Given the description of an element on the screen output the (x, y) to click on. 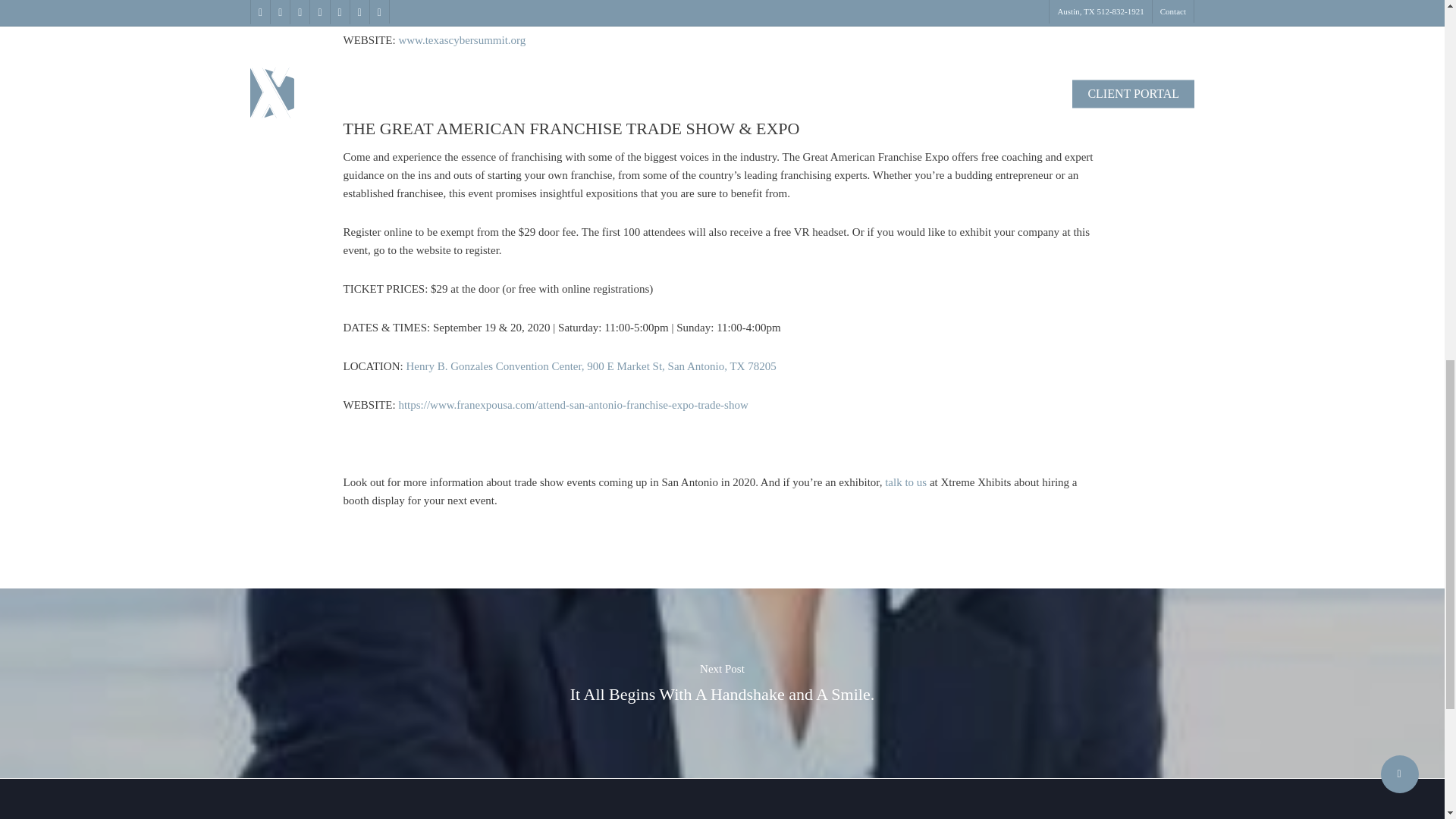
www.texascybersummit.org (461, 39)
talk to us (905, 481)
